Given the description of an element on the screen output the (x, y) to click on. 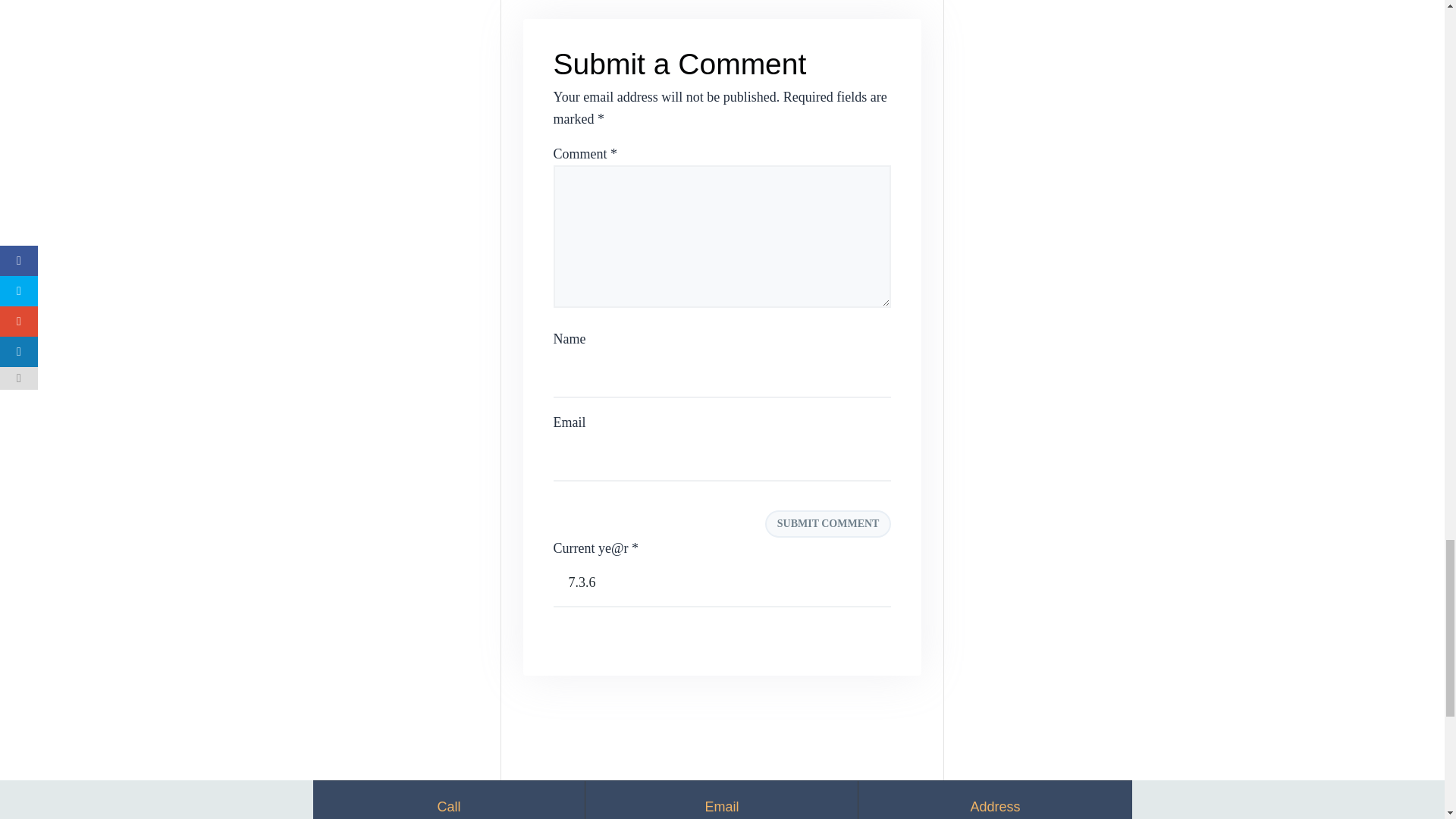
Submit Comment (828, 523)
Submit Comment (828, 523)
7.3.6 (722, 583)
